Given the description of an element on the screen output the (x, y) to click on. 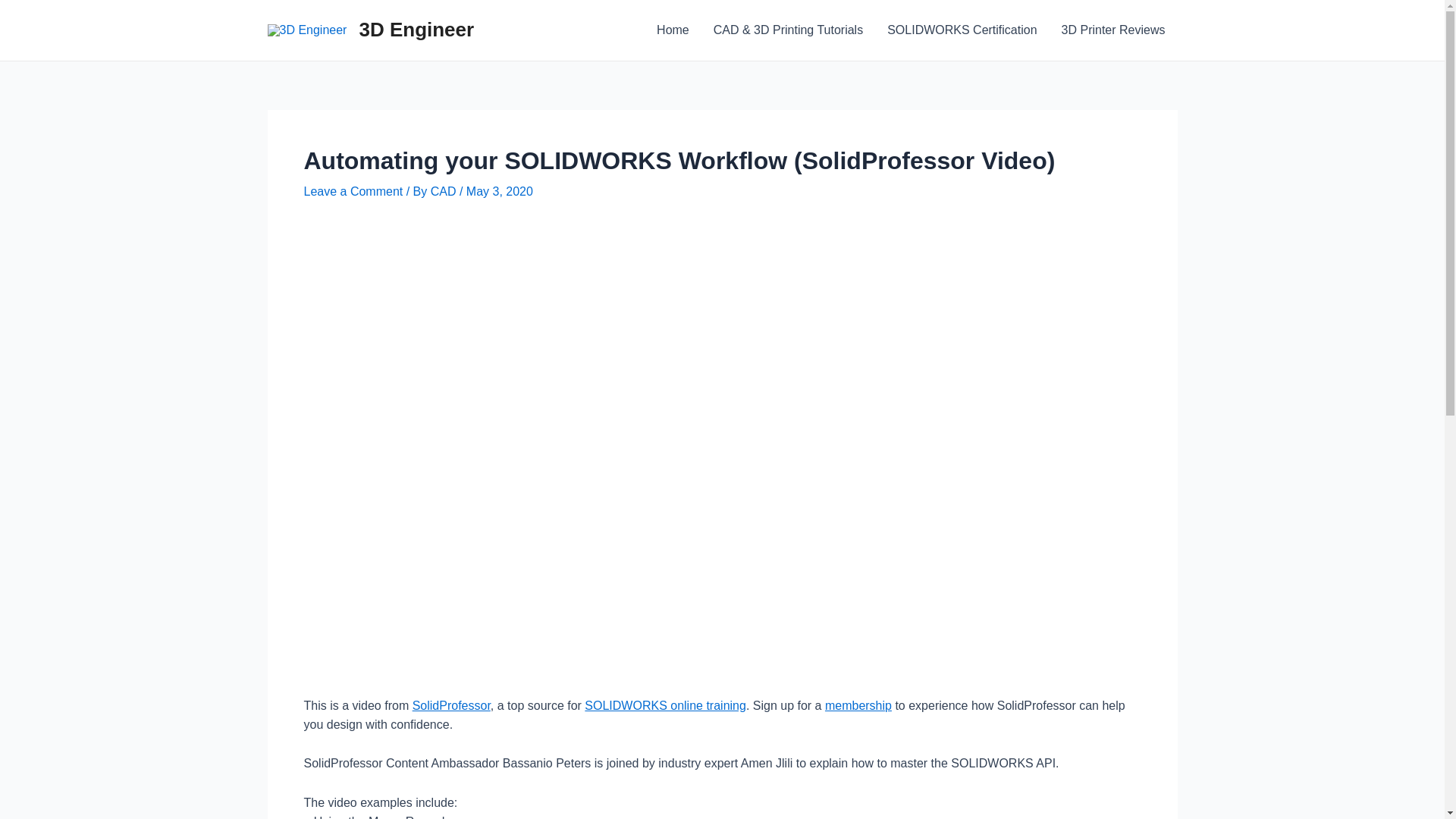
Leave a Comment Element type: text (352, 191)
membership Element type: text (858, 705)
CAD & 3D Printing Tutorials Element type: text (788, 30)
CAD Element type: text (444, 191)
3D Engineer Element type: text (415, 29)
3D Printer Reviews Element type: text (1113, 30)
SOLIDWORKS online training Element type: text (665, 705)
SolidProfessor Element type: text (451, 705)
SOLIDWORKS Certification Element type: text (961, 30)
Home Element type: text (672, 30)
Automating your SOLIDWORKS Workflow Element type: hover (721, 460)
